Given the description of an element on the screen output the (x, y) to click on. 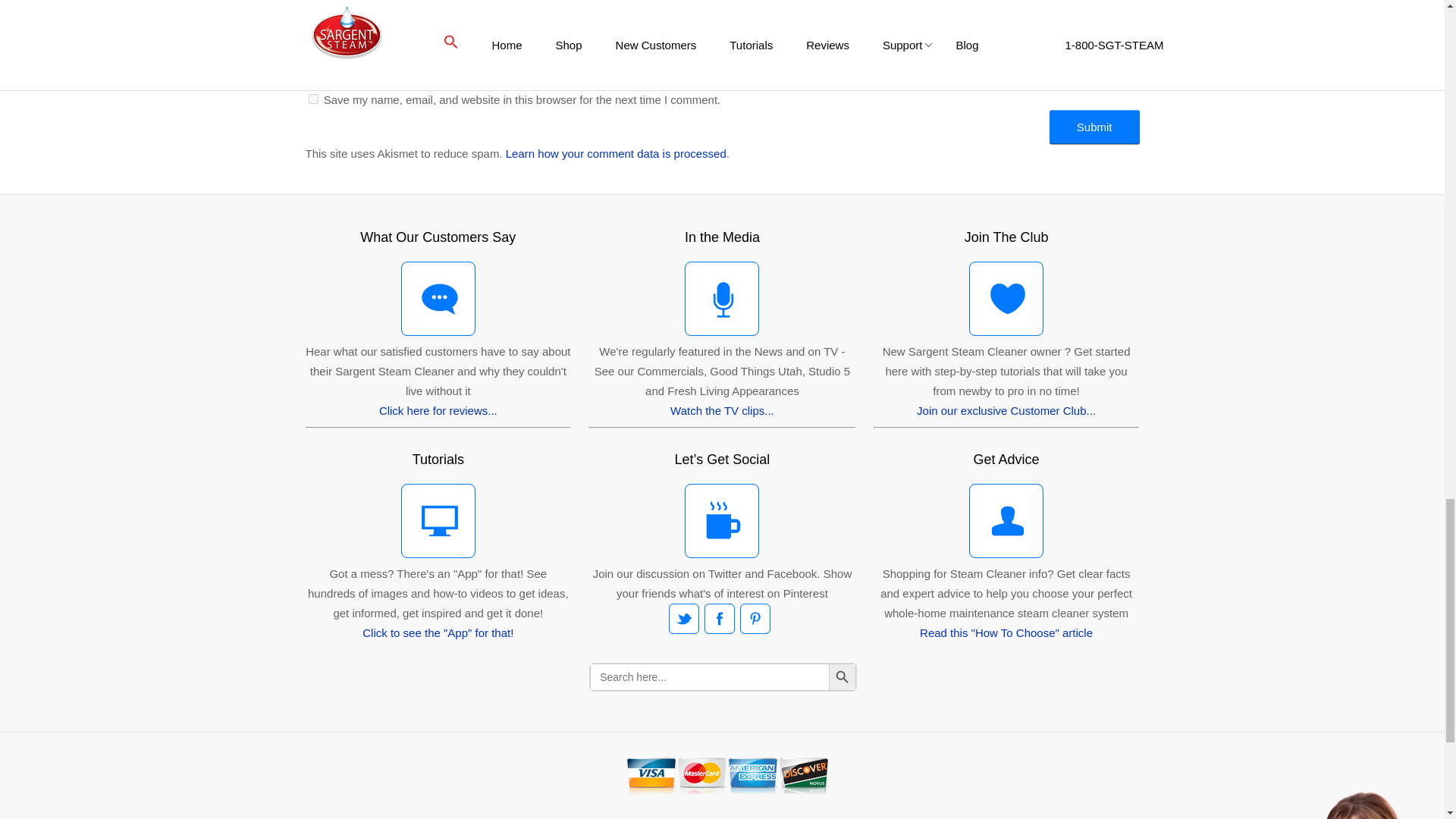
Submit (1094, 126)
yes (312, 99)
